Given the description of an element on the screen output the (x, y) to click on. 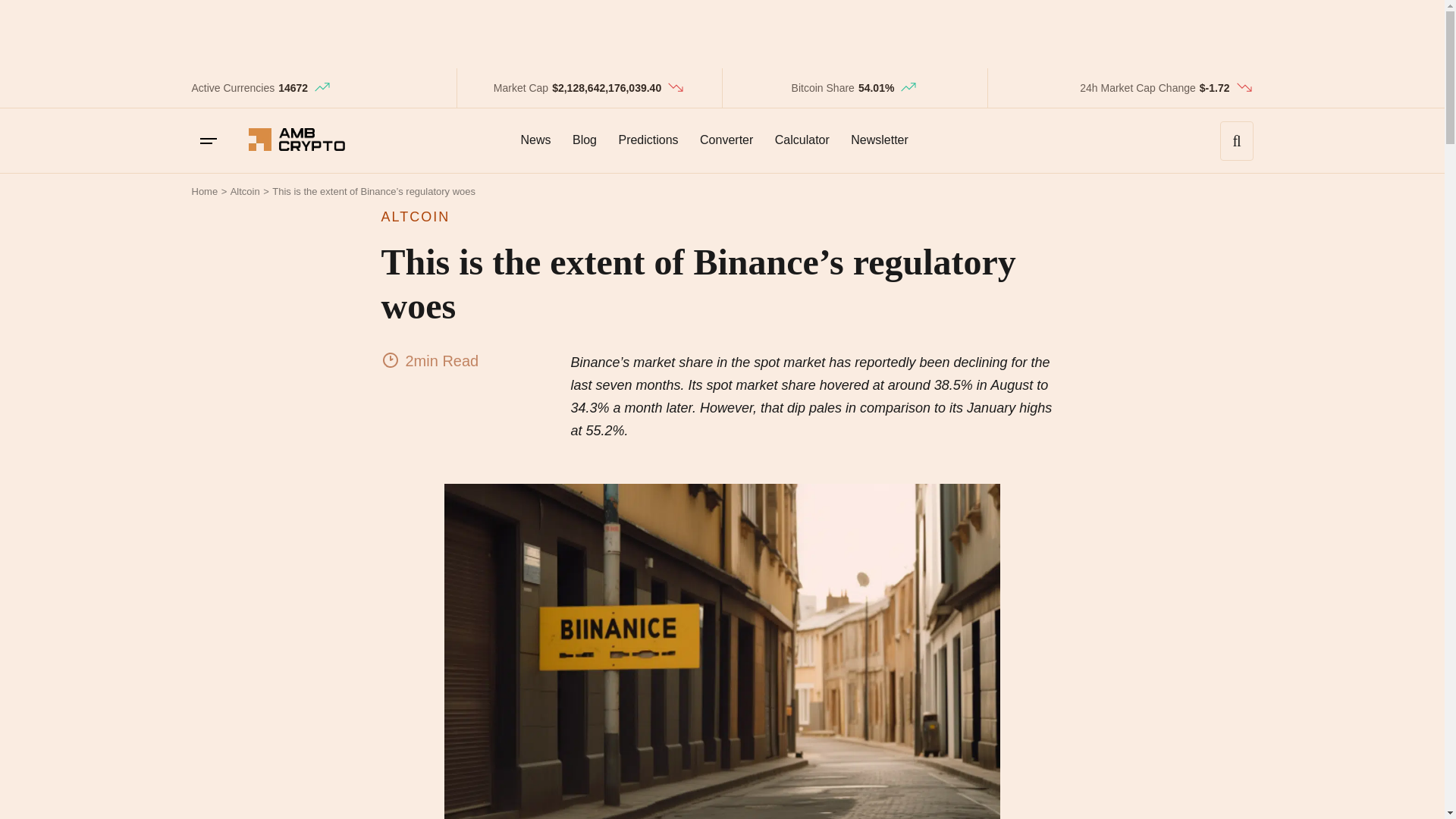
Calculator (801, 139)
Home (203, 191)
News (535, 139)
ALTCOIN (721, 216)
Home (203, 191)
Altcoin (245, 191)
Altcoin (245, 191)
Newsletter (879, 139)
Blog (584, 139)
Converter (725, 139)
